Given the description of an element on the screen output the (x, y) to click on. 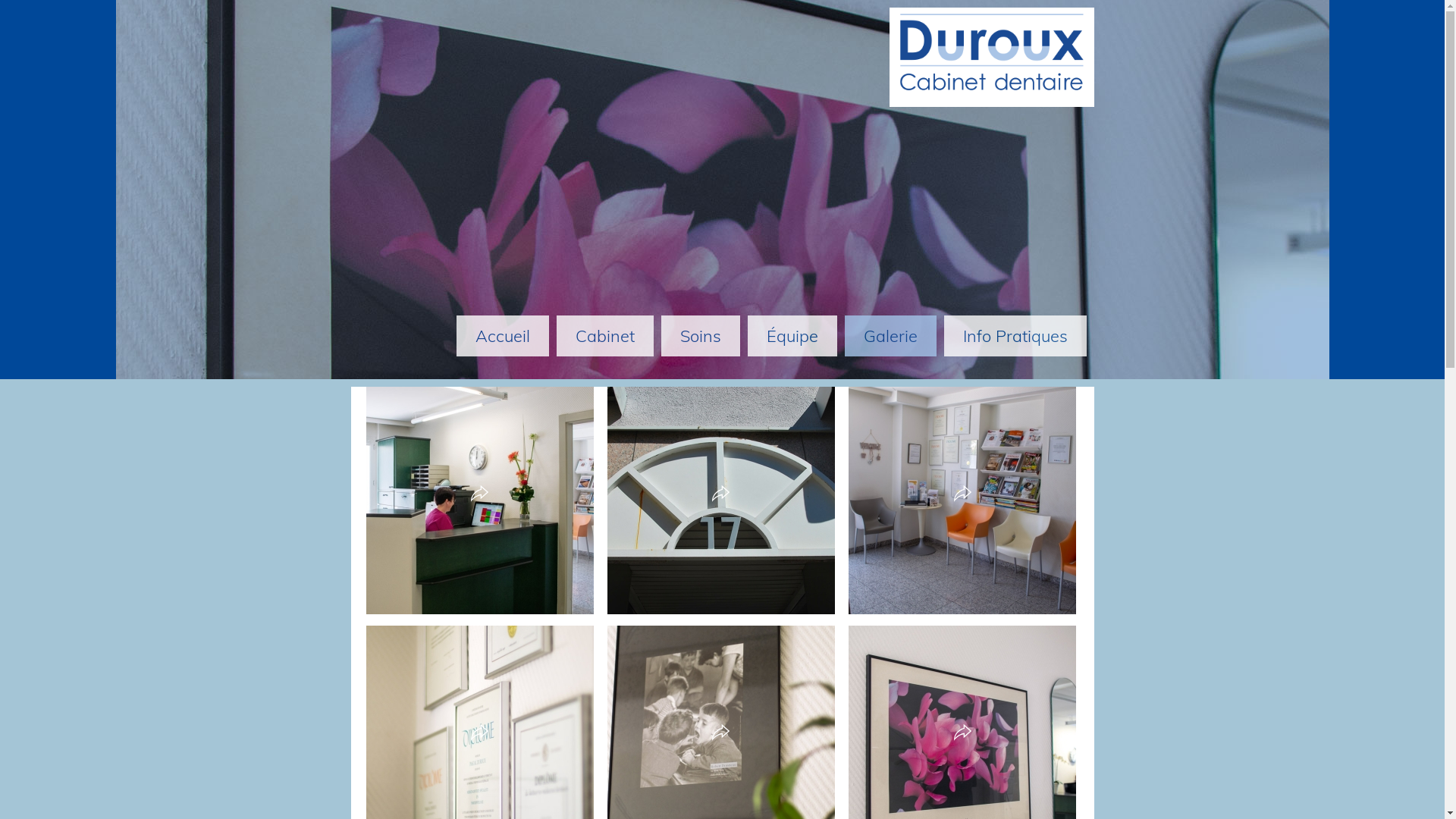
Soins Element type: text (700, 335)
Accueil Element type: text (502, 335)
Galerie Element type: text (890, 335)
Cabinet Element type: text (604, 335)
Info Pratiques Element type: text (1014, 335)
